Given the description of an element on the screen output the (x, y) to click on. 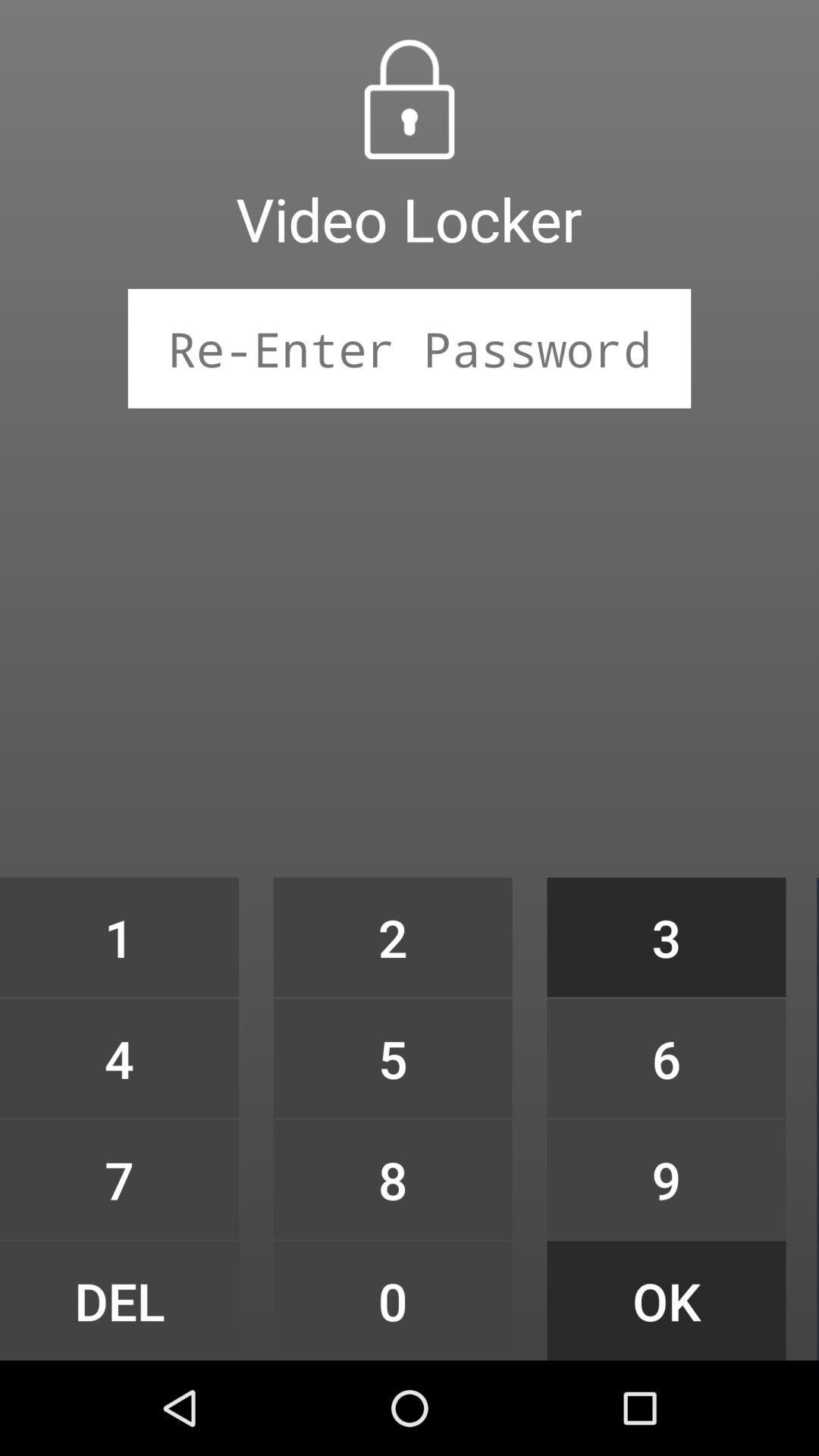
open icon next to 5 icon (666, 1179)
